Given the description of an element on the screen output the (x, y) to click on. 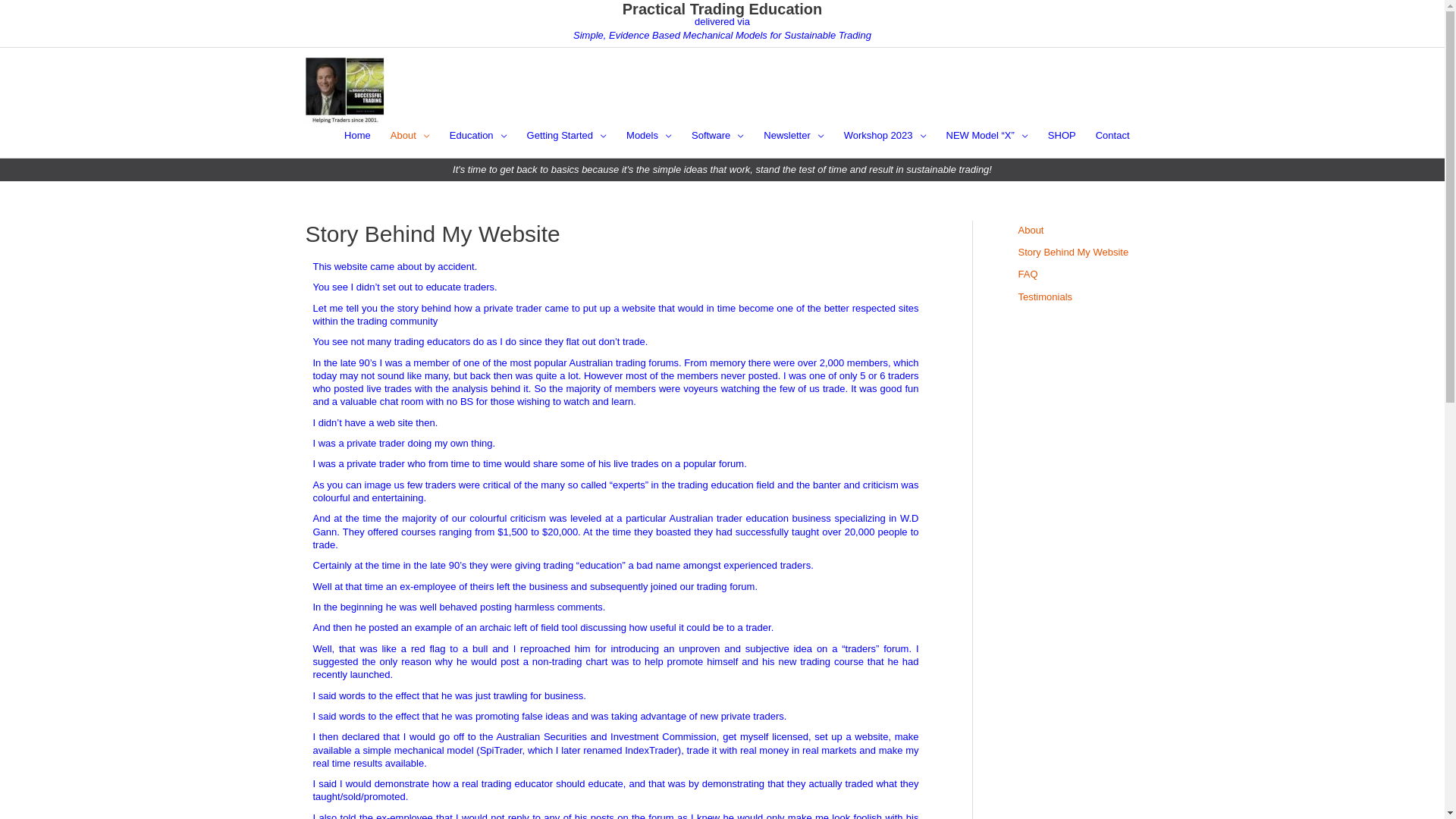
Newsletter Element type: text (793, 135)
Testimonials Element type: text (1044, 296)
Software Element type: text (717, 135)
Workshop 2023 Element type: text (885, 135)
Education Element type: text (478, 135)
About Element type: text (1030, 229)
Getting Started Element type: text (566, 135)
About Element type: text (409, 135)
Home Element type: text (357, 135)
Contact Element type: text (1112, 135)
FAQ Element type: text (1027, 273)
Story Behind My Website Element type: text (1072, 251)
Models Element type: text (648, 135)
SHOP Element type: text (1061, 135)
